Given the description of an element on the screen output the (x, y) to click on. 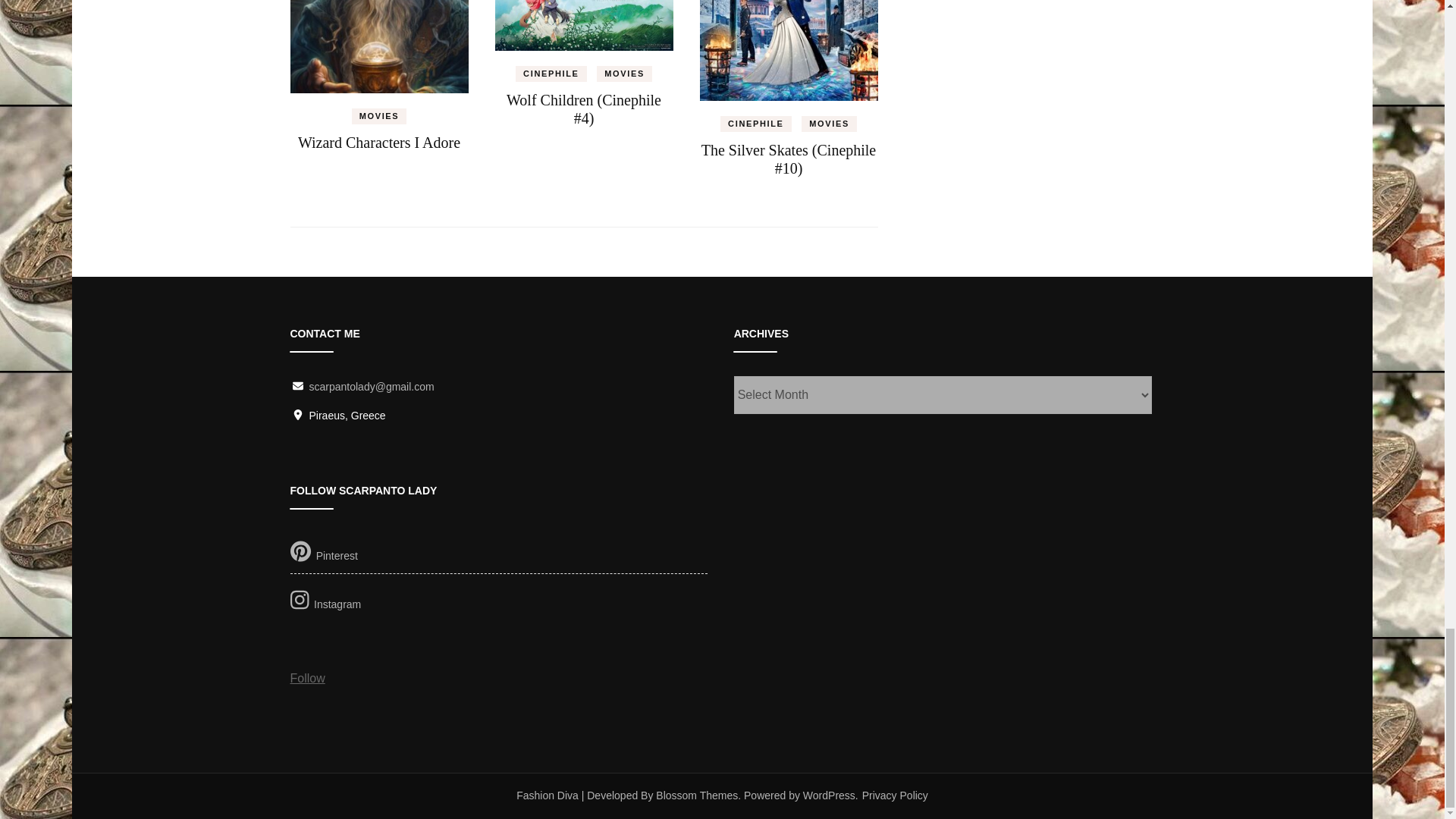
MOVIES (379, 116)
Wizard Characters I Adore (379, 142)
Visit Scarpanto Lady on Instagram (498, 601)
Visit Scarpanto Lady on Pinterest (498, 553)
